Given the description of an element on the screen output the (x, y) to click on. 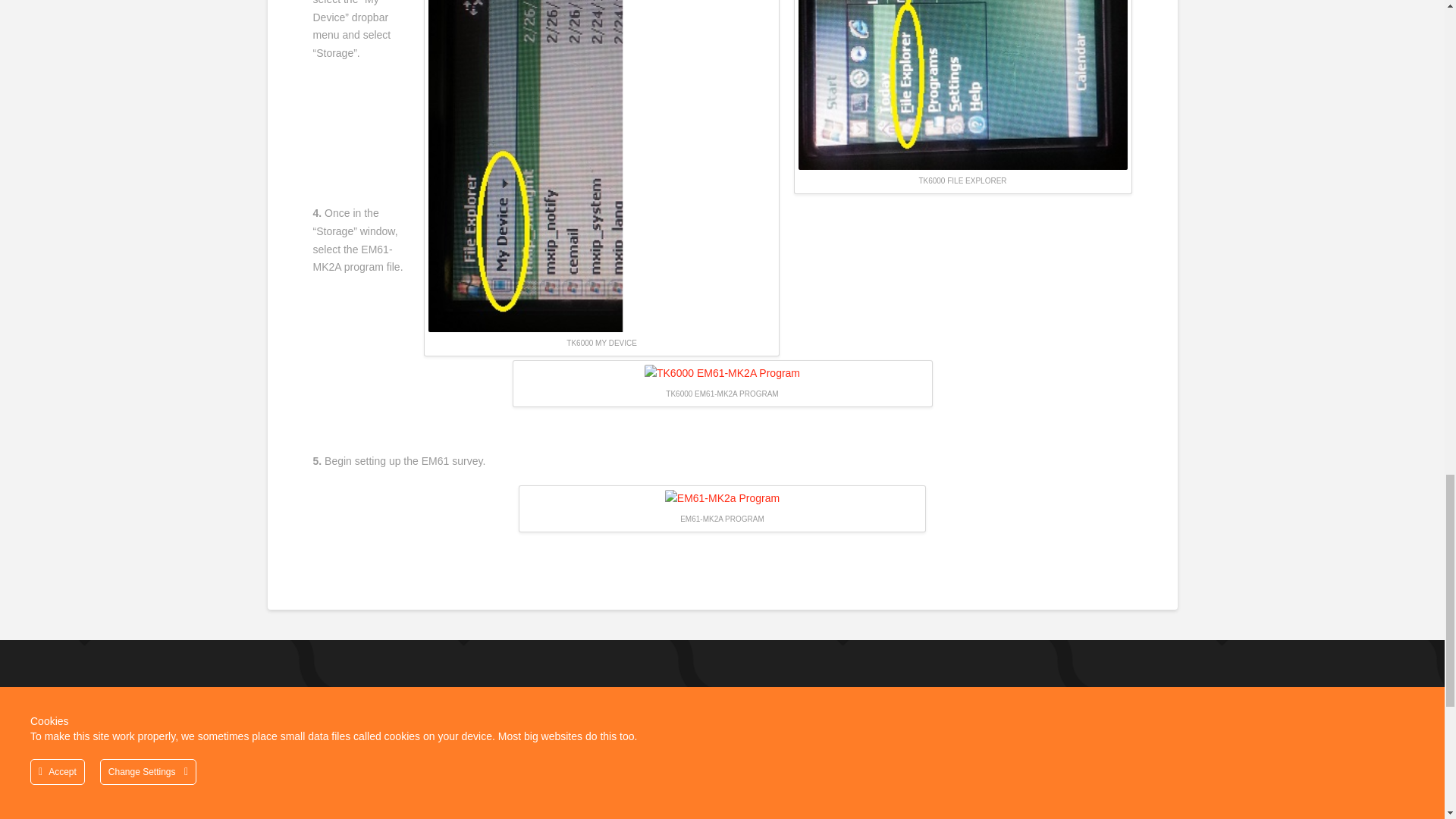
EM61-MK2 Program (721, 498)
TK6000 File Explorer (961, 84)
TK6000 My Device (601, 166)
TK6000 EM61-MK2 Program (722, 373)
